Given the description of an element on the screen output the (x, y) to click on. 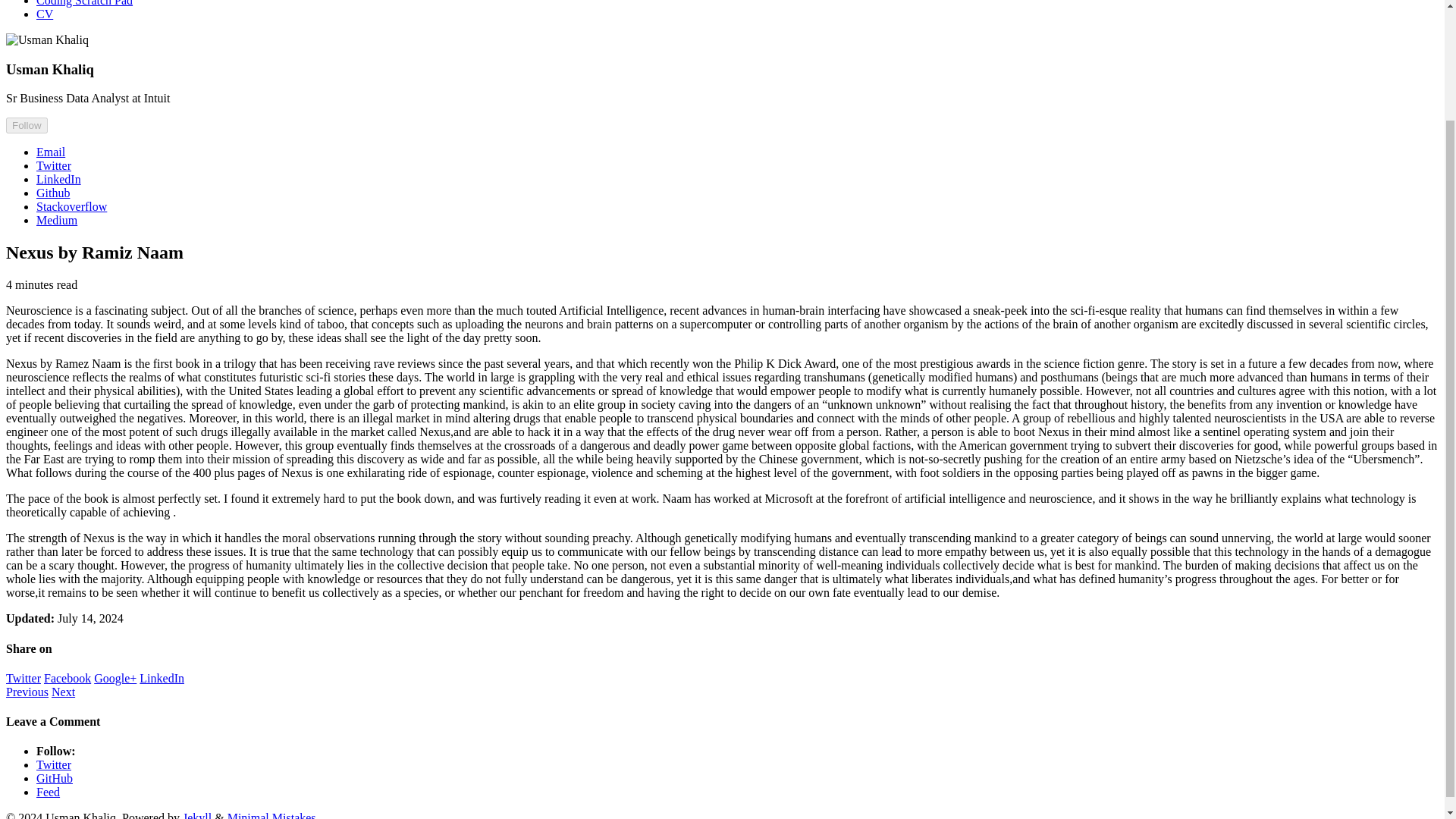
Master Algorithm by Pedro Domingos  (26, 691)
LinkedIn (161, 677)
Twitter (53, 164)
Share on Twitter (22, 677)
Share on Facebook (66, 677)
Stackoverflow (71, 205)
LinkedIn (58, 178)
CV (44, 13)
Medium (56, 219)
Twitter (22, 677)
